Given the description of an element on the screen output the (x, y) to click on. 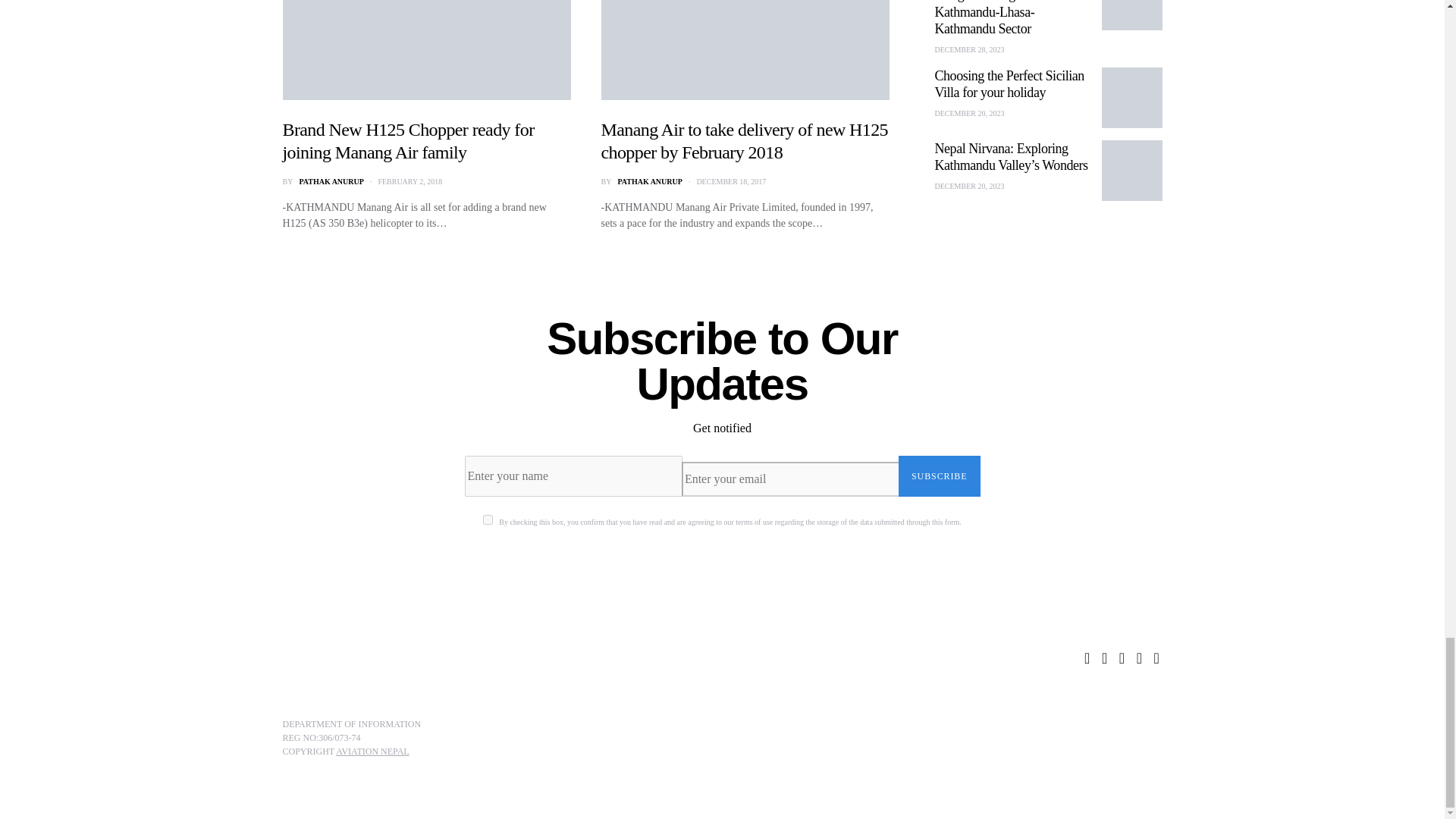
View all posts by Pathak Anurup (330, 181)
View all posts by Pathak Anurup (649, 181)
on (488, 519)
